Given the description of an element on the screen output the (x, y) to click on. 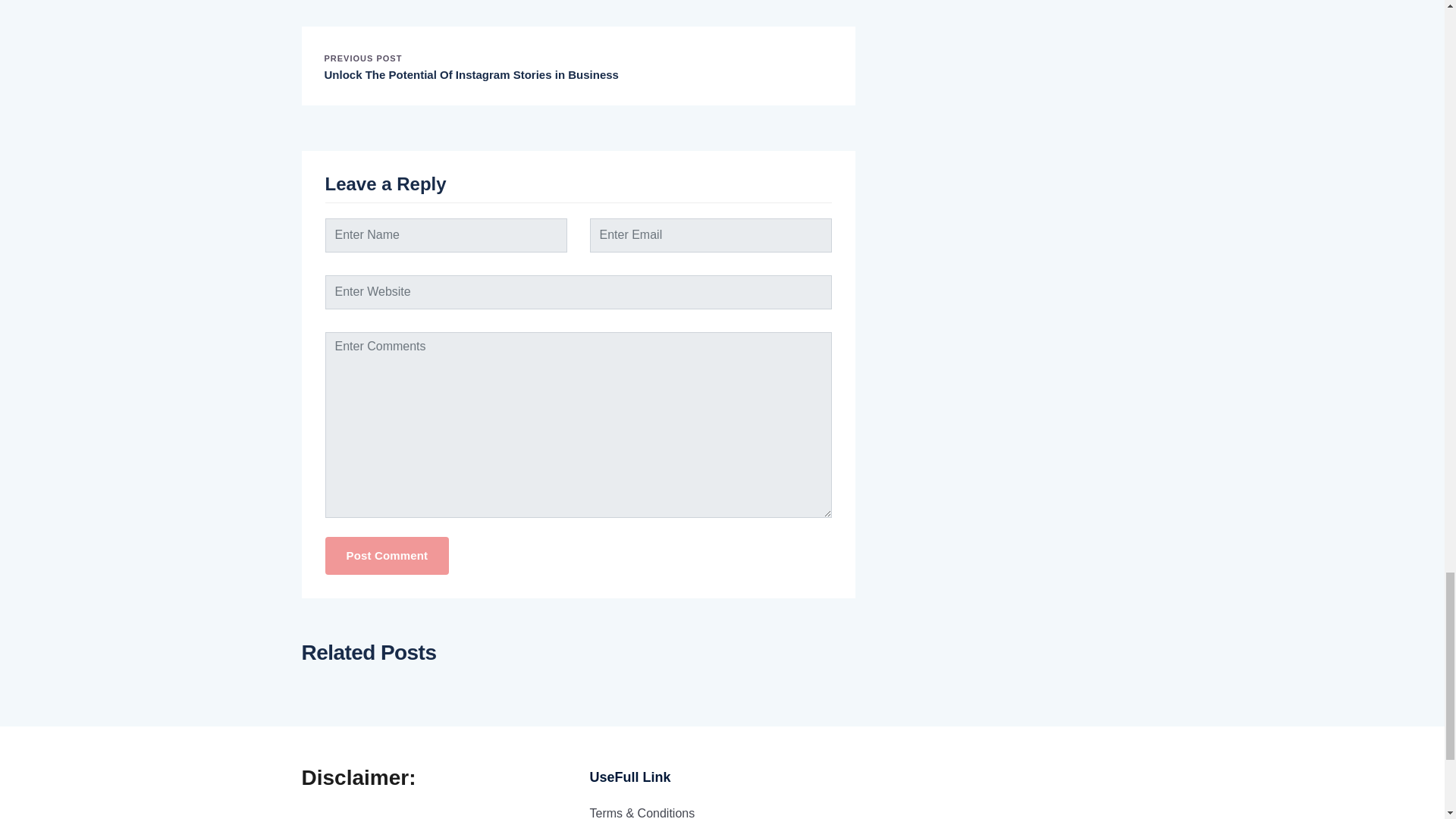
Unlock The Potential Of Instagram Stories in Business (471, 74)
Post Comment (386, 556)
Post Comment (386, 556)
